Given the description of an element on the screen output the (x, y) to click on. 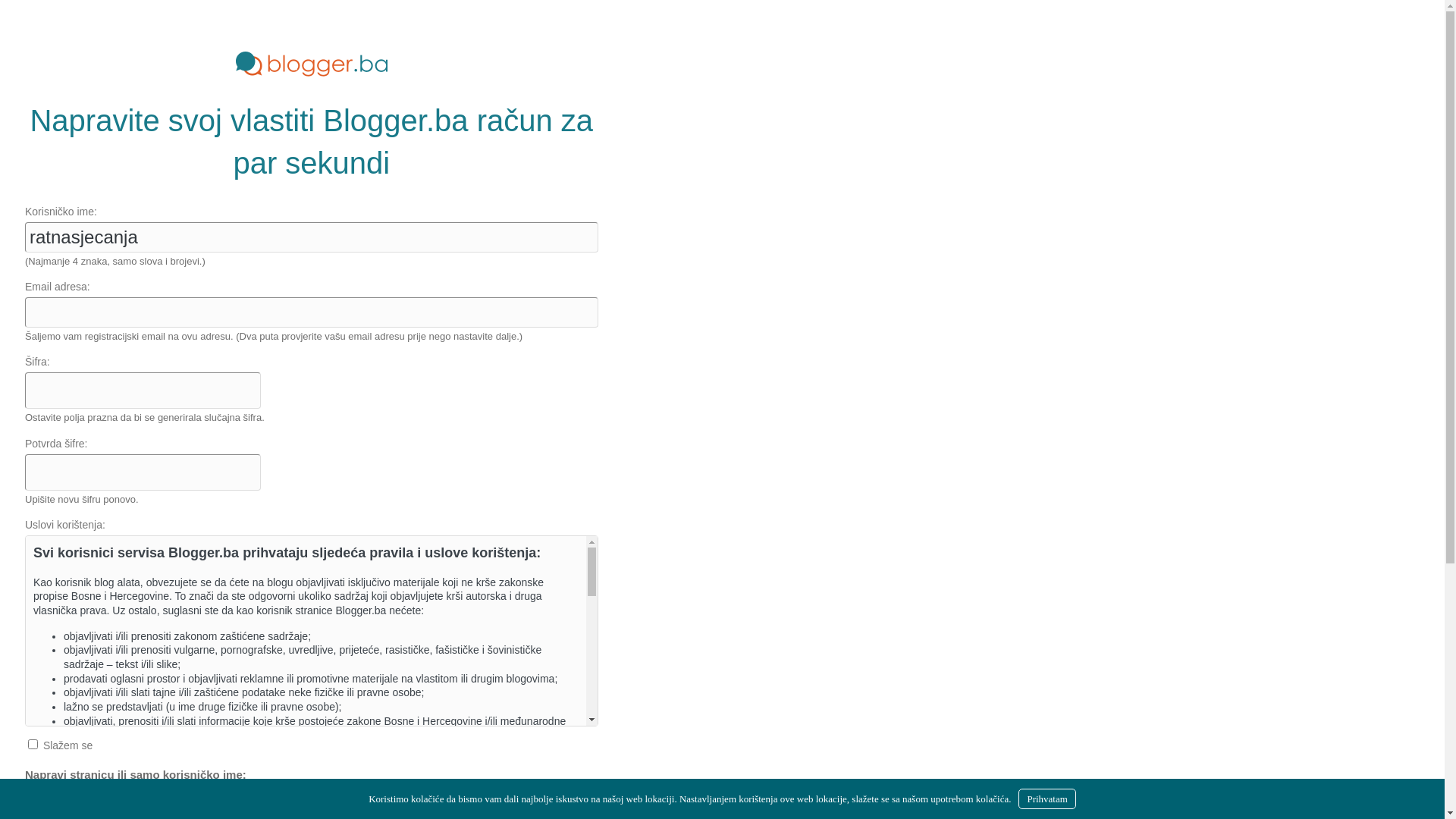
Prihvatam Element type: text (1046, 798)
